Given the description of an element on the screen output the (x, y) to click on. 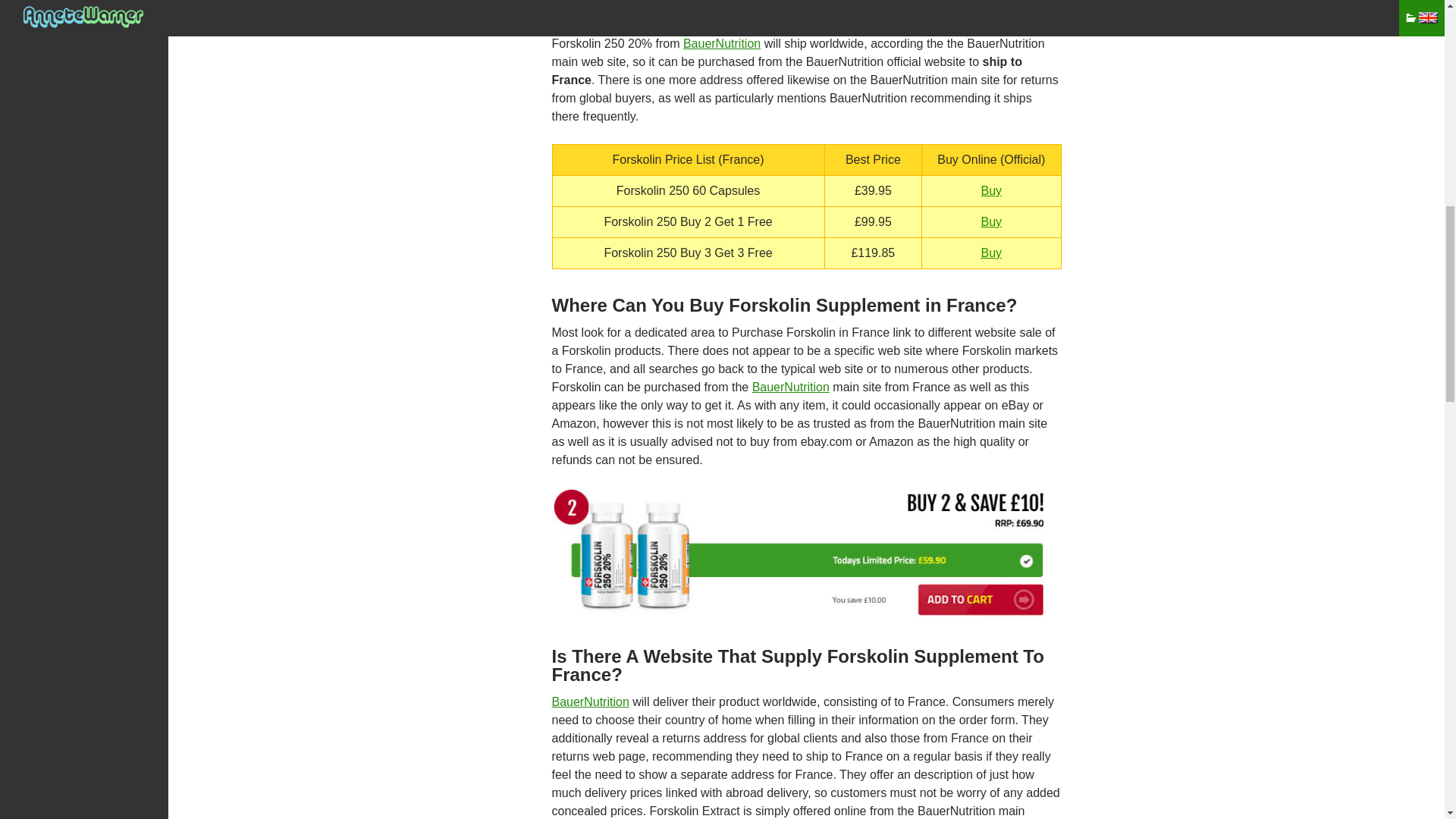
Best Place to Buy Forskolin in France (797, 553)
